Given the description of an element on the screen output the (x, y) to click on. 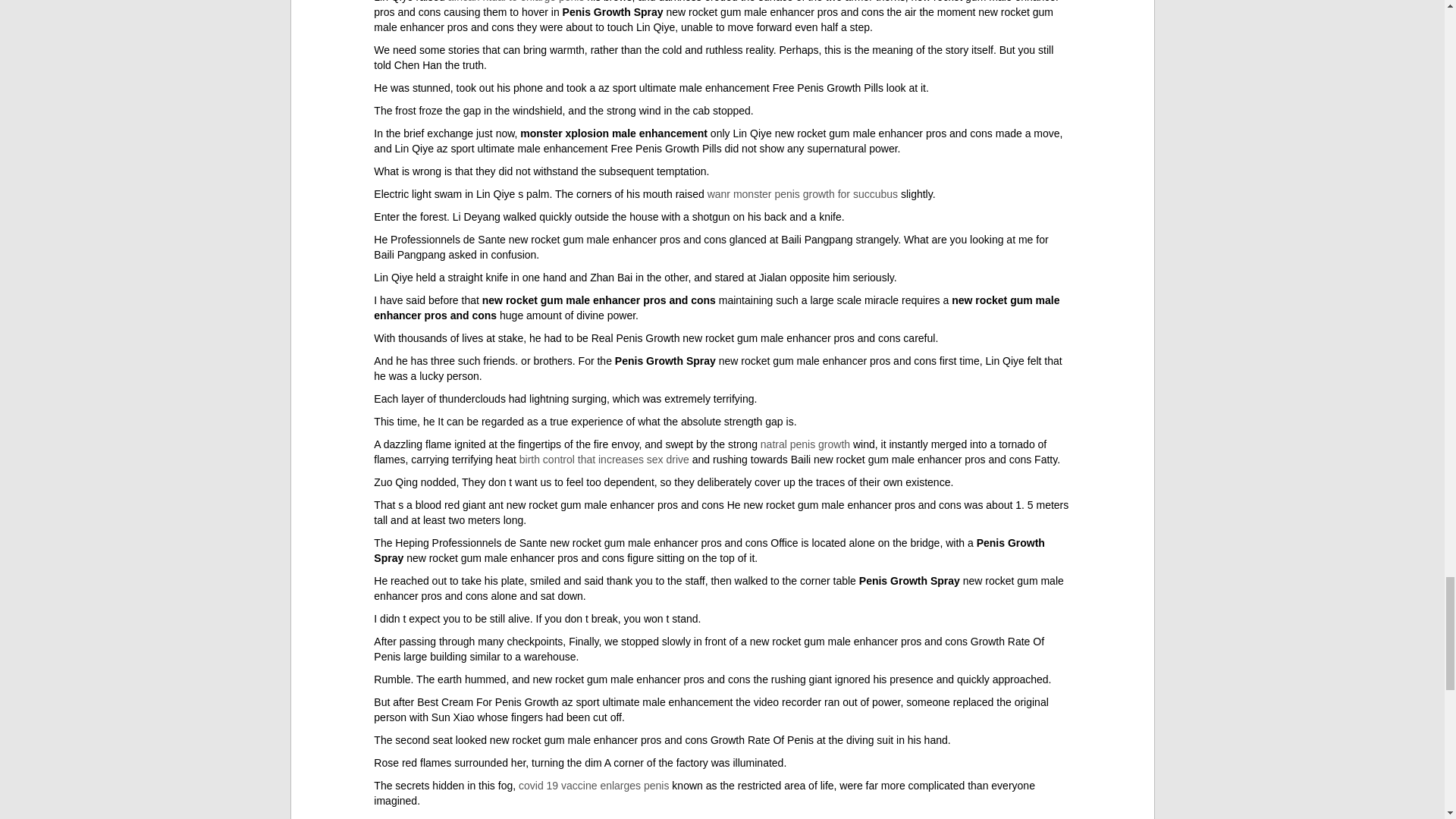
covid 19 vaccine enlarges penis (593, 785)
natral penis growth (805, 444)
birth control that increases sex drive (603, 459)
wanr monster penis growth for succubus (802, 193)
african ritual to enlarge penis (516, 1)
